Given the description of an element on the screen output the (x, y) to click on. 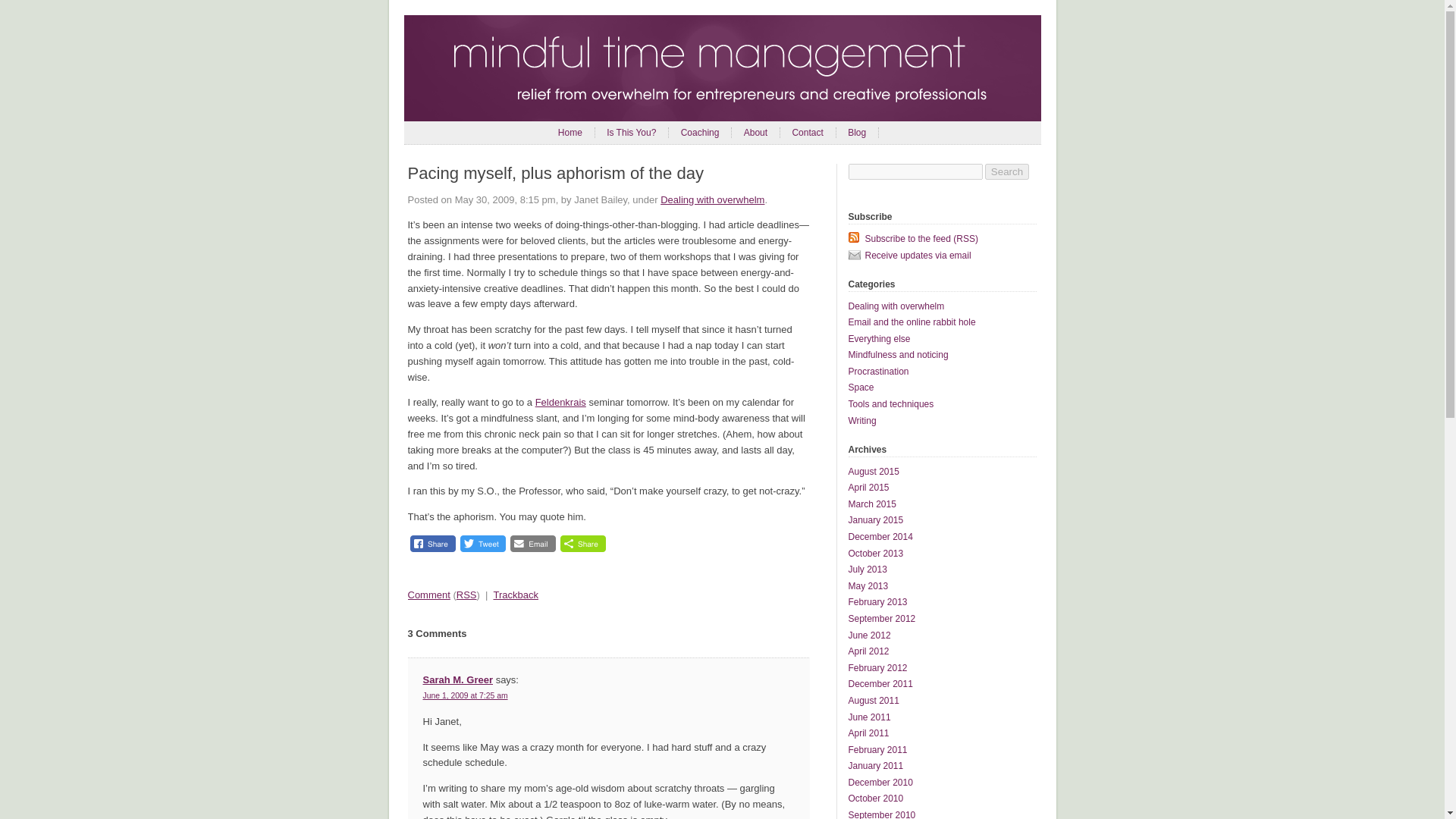
April 2015 (867, 487)
Writing (861, 420)
Comment (428, 594)
Space (860, 387)
Tools and techniques (890, 403)
Contact (807, 132)
Trackback (515, 594)
Home (570, 132)
Dealing with overwhelm (895, 305)
January 2015 (874, 520)
